Given the description of an element on the screen output the (x, y) to click on. 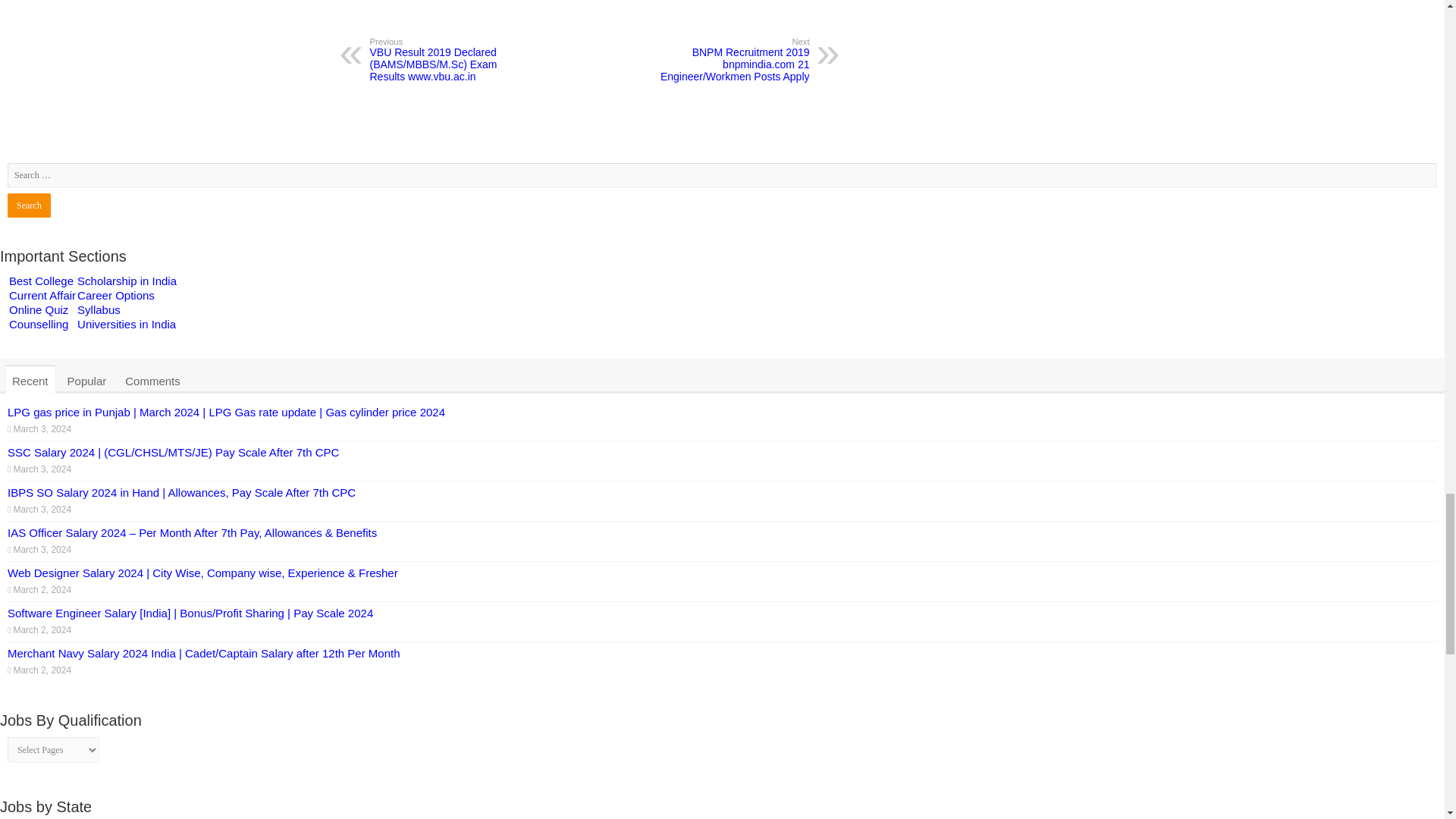
Search (28, 205)
Search (28, 205)
